Given the description of an element on the screen output the (x, y) to click on. 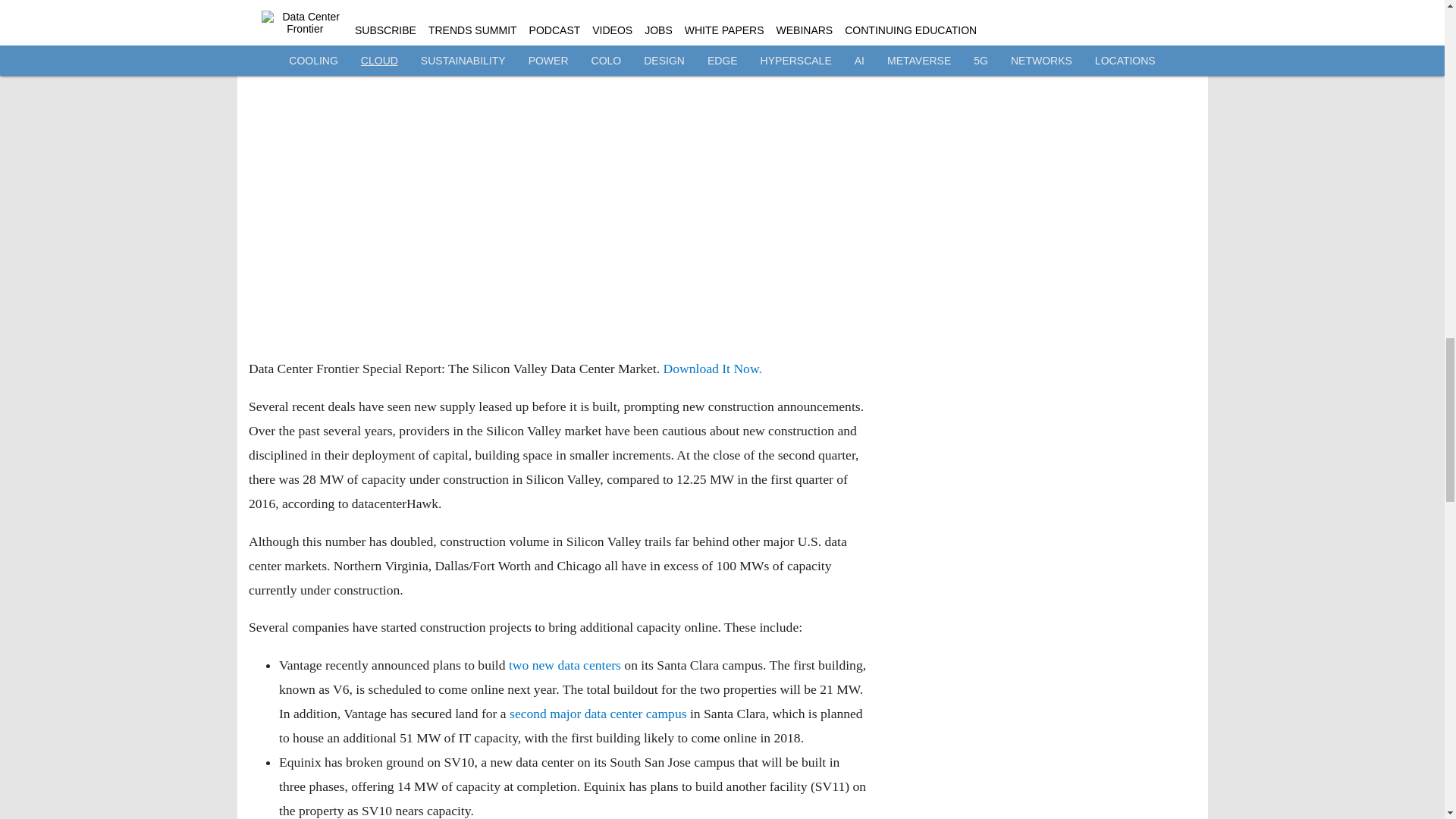
Download It Now. (711, 368)
second major data center campus (598, 713)
two new data centers (564, 664)
